Given the description of an element on the screen output the (x, y) to click on. 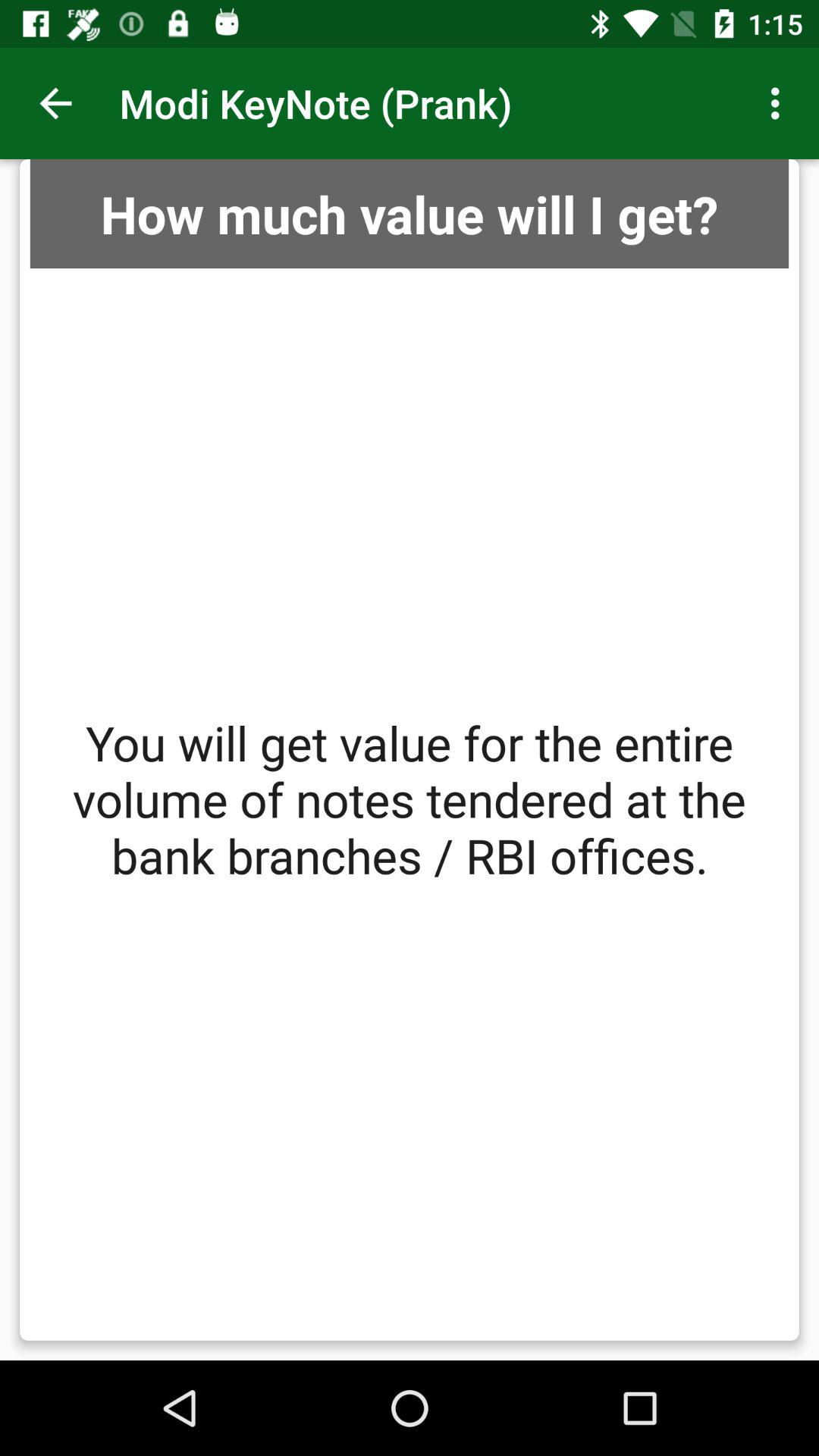
click item next to the modi keynote (prank) app (779, 103)
